Given the description of an element on the screen output the (x, y) to click on. 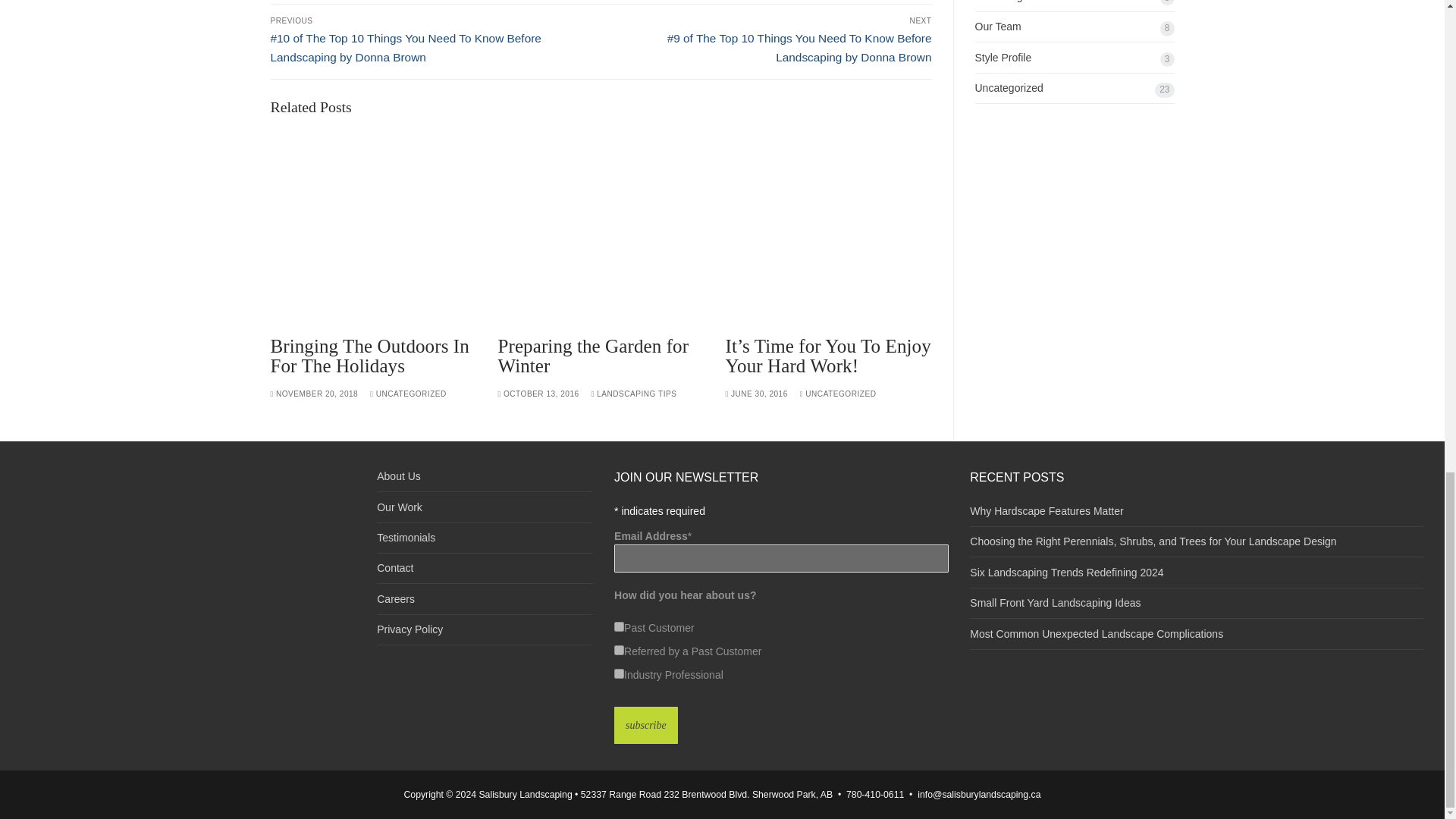
Subscribe (646, 724)
2 (619, 650)
Bringing The Outdoors In For The Holidays (368, 355)
Bringing The Outdoors In For The Holidays (372, 228)
Preparing the Garden for Winter (600, 228)
8 (619, 673)
Preparing the Garden for Winter (592, 355)
1 (619, 626)
